Given the description of an element on the screen output the (x, y) to click on. 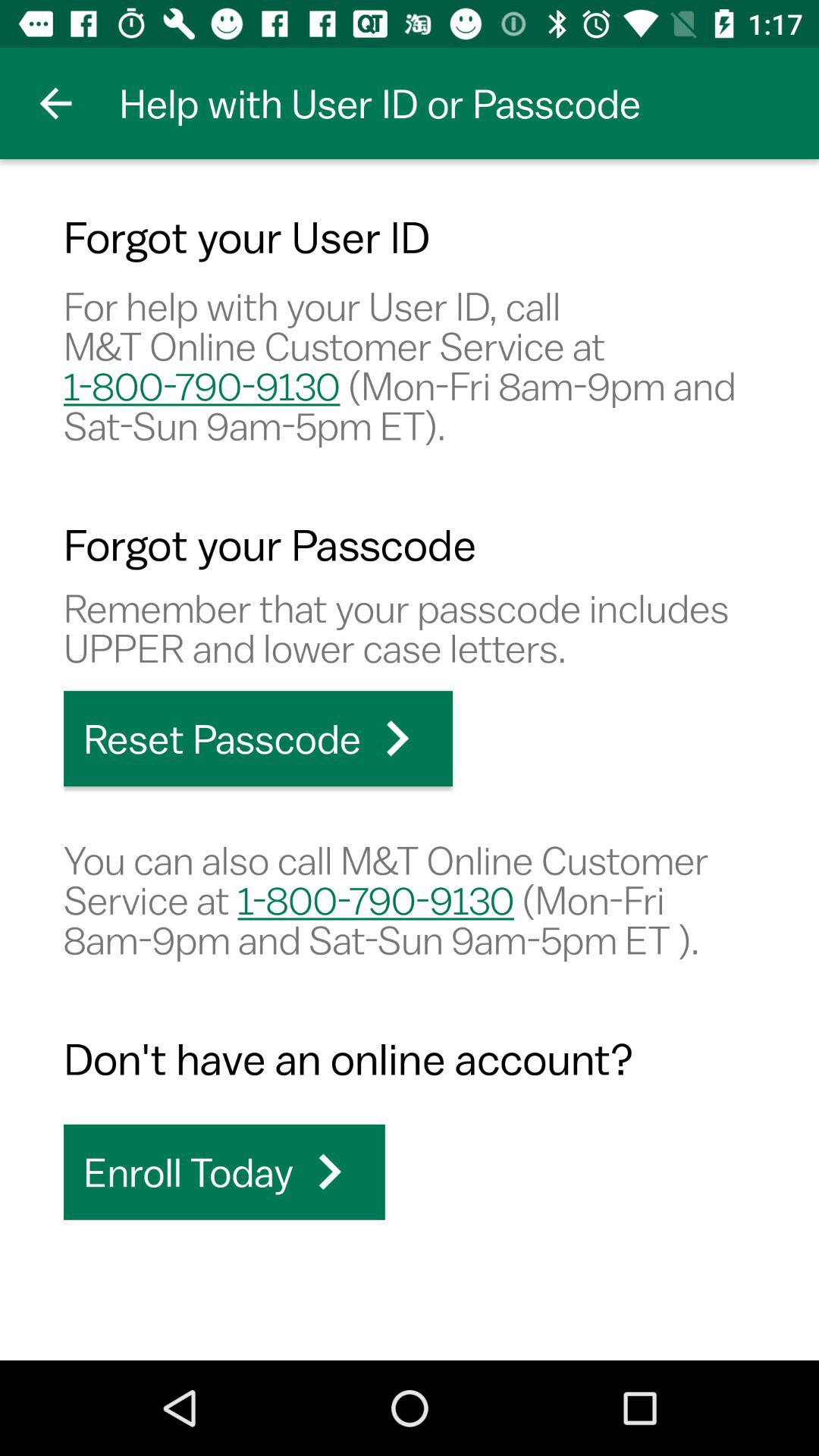
choose item at the bottom left corner (224, 1171)
